Given the description of an element on the screen output the (x, y) to click on. 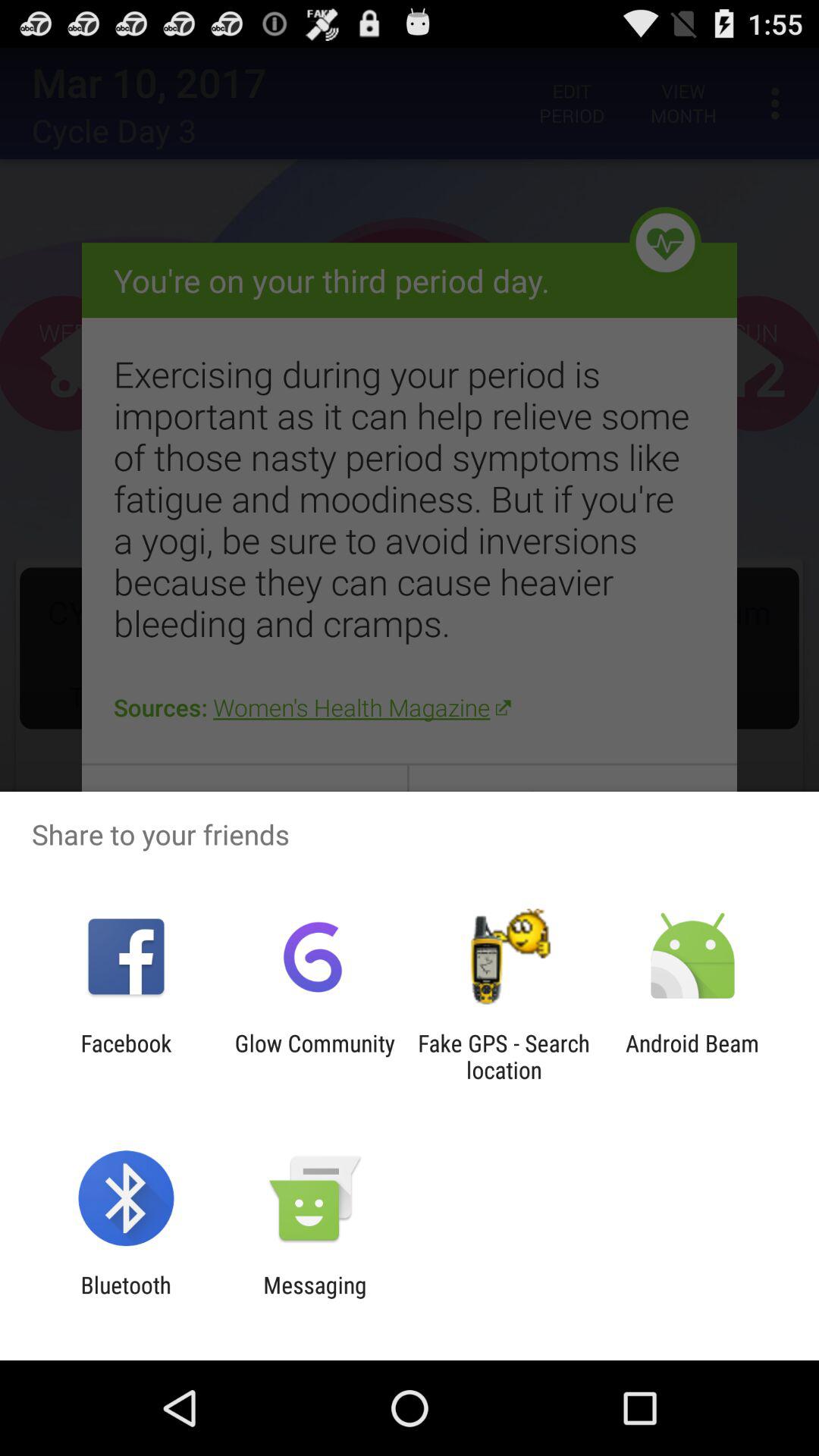
click glow community item (314, 1056)
